Given the description of an element on the screen output the (x, y) to click on. 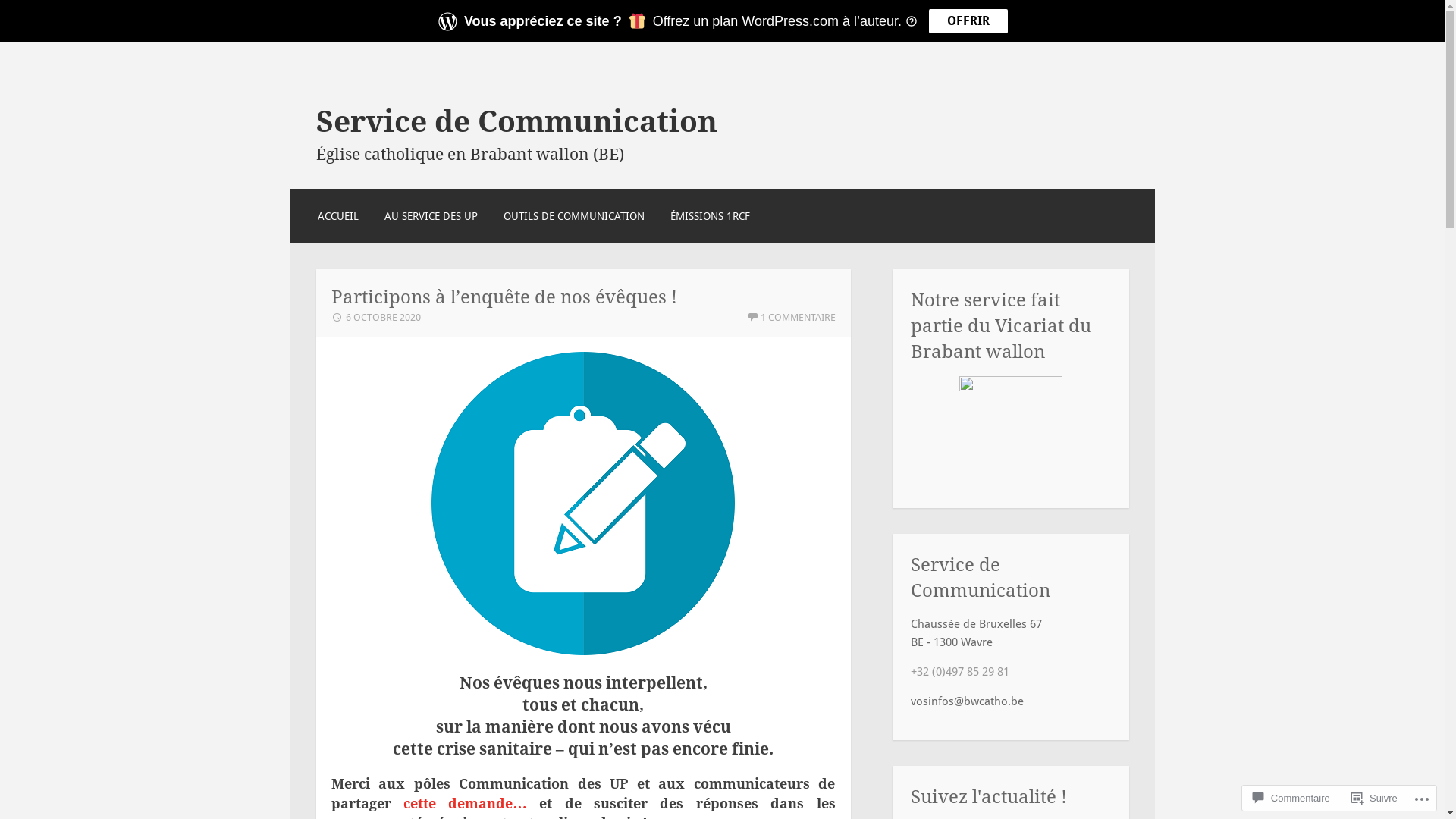
6 OCTOBRE 2020 Element type: text (375, 317)
OFFRIR Element type: text (967, 21)
Service de Communication Element type: text (515, 120)
Commentaire Element type: text (1291, 797)
ACCUEIL Element type: text (337, 215)
Suivre Element type: text (1374, 797)
AU SERVICE DES UP Element type: text (430, 215)
vosinfos@bwcatho.be Element type: text (966, 701)
OUTILS DE COMMUNICATION Element type: text (573, 215)
1 COMMENTAIRE Element type: text (790, 317)
Rechercher Element type: text (56, 17)
